Given the description of an element on the screen output the (x, y) to click on. 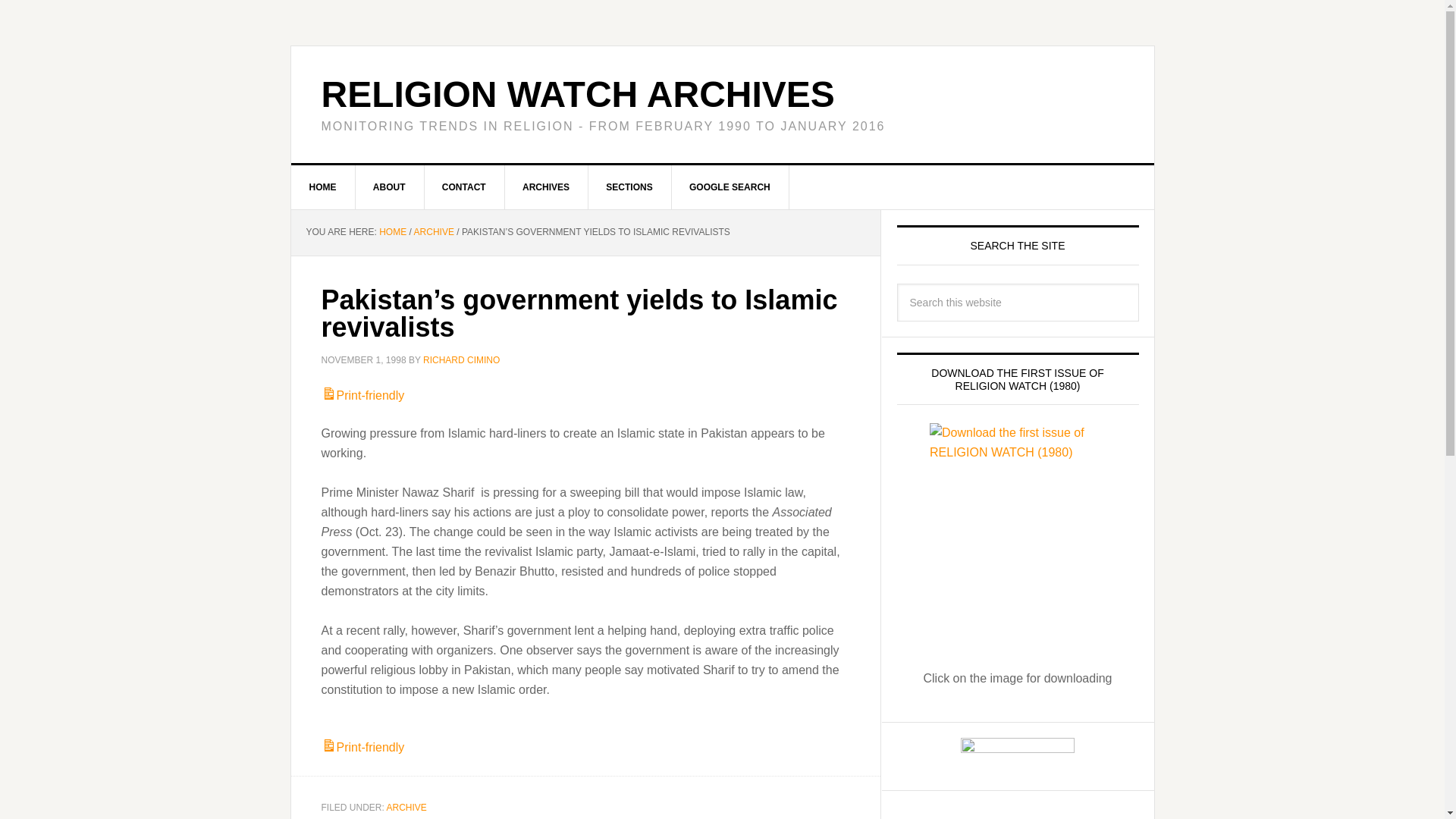
SECTIONS (629, 187)
RELIGION WATCH ARCHIVES (577, 94)
ARCHIVES (545, 187)
GOOGLE SEARCH (730, 187)
HOME (323, 187)
ARCHIVE (433, 231)
RICHARD CIMINO (461, 359)
CONTACT (464, 187)
Print-friendly (362, 747)
Print-friendly (362, 395)
HOME (392, 231)
ARCHIVE (406, 807)
